Given the description of an element on the screen output the (x, y) to click on. 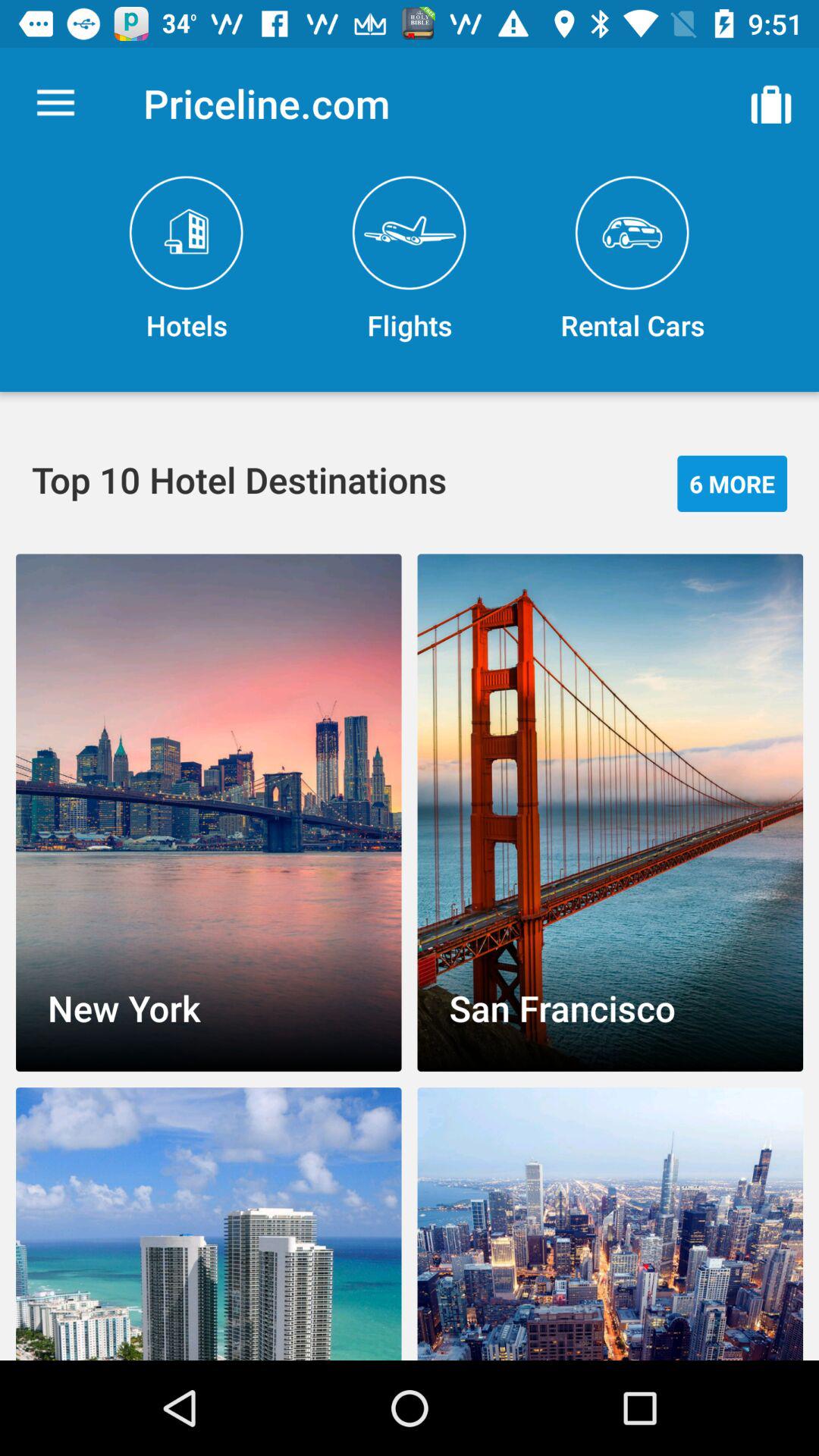
tap the item next to the rental cars (409, 259)
